Given the description of an element on the screen output the (x, y) to click on. 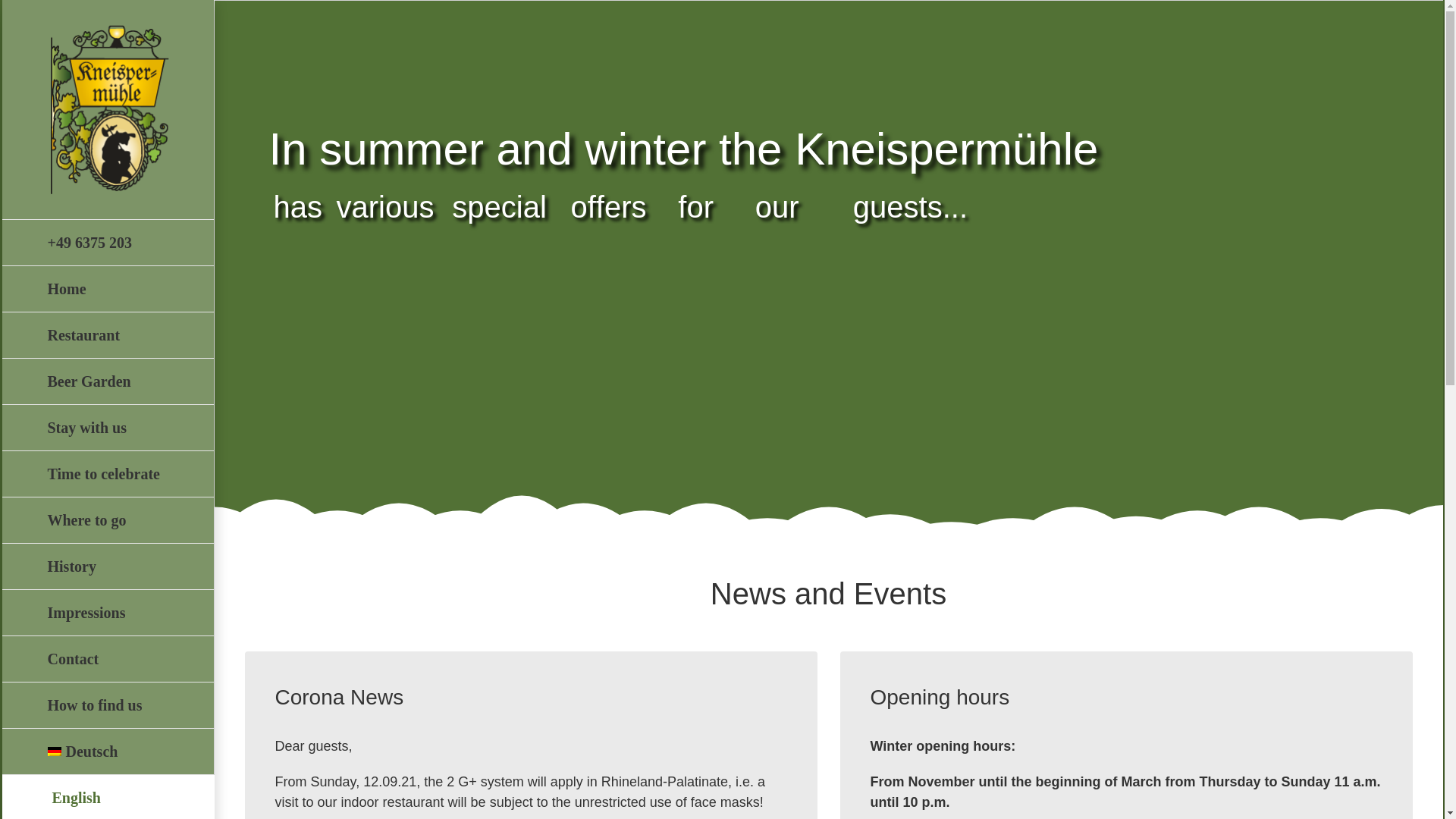
Time to celebrate (106, 474)
Contact (106, 659)
Beer Garden (106, 381)
News and Events (828, 601)
Stay with us (106, 427)
Impressions (106, 612)
Restaurant (106, 335)
Deutsch (106, 751)
History (106, 566)
English (106, 796)
English (106, 796)
Where to go (106, 520)
How to find us (106, 705)
Deutsch (106, 751)
Home (106, 289)
